Given the description of an element on the screen output the (x, y) to click on. 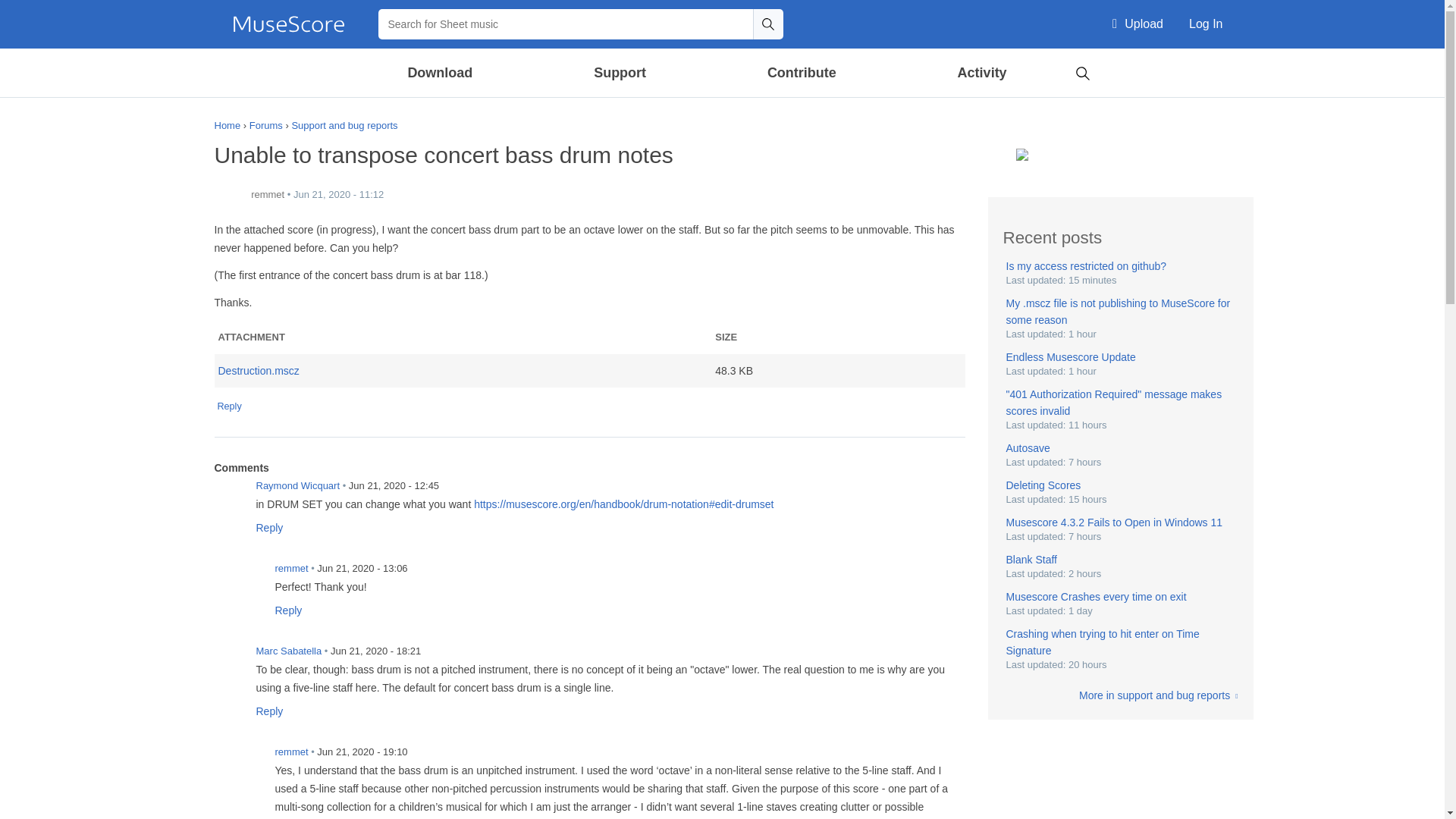
remmet (229, 195)
Search (767, 24)
MuseScore (287, 23)
Upload (1137, 24)
Support (619, 72)
Activity (981, 72)
remmet (247, 577)
Download (440, 72)
Marc Sabatella (229, 660)
